Given the description of an element on the screen output the (x, y) to click on. 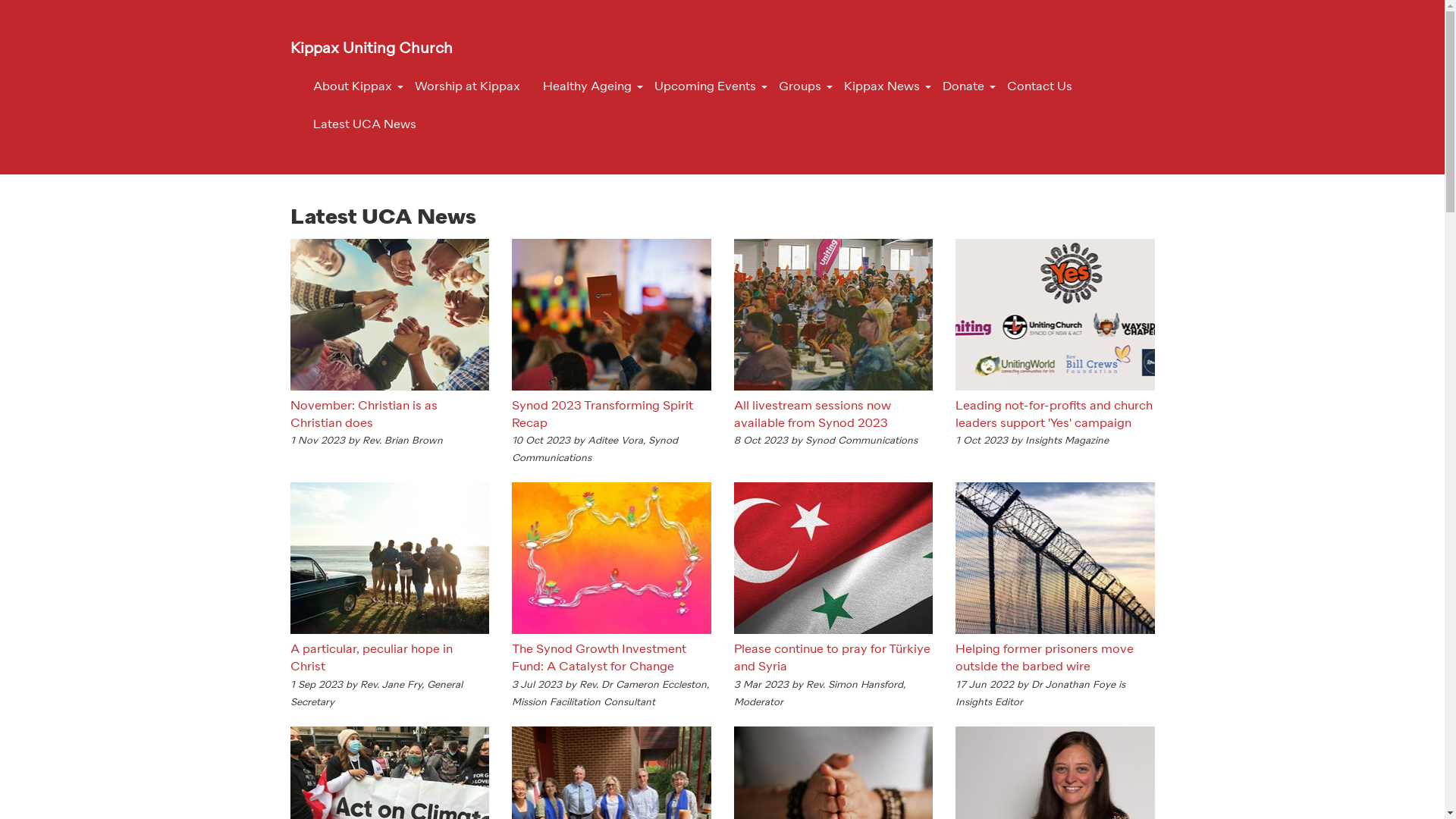
Upcoming Events Element type: text (705, 87)
The Synod Growth Investment Fund: A Catalyst for Change Element type: text (611, 658)
Synod 2023 Transforming Spirit Recap Element type: text (611, 415)
Helping former prisoners move outside the barbed wire Element type: text (1054, 658)
Kippax Uniting Church Element type: text (371, 49)
Latest UCA News Element type: text (364, 125)
About Kippax Element type: text (352, 87)
Healthy Ageing Element type: text (586, 87)
Worship at Kippax Element type: text (467, 87)
Donate Element type: text (963, 87)
A particular, peculiar hope in Christ Element type: text (389, 658)
Kippax News Element type: text (881, 87)
November: Christian is as Christian does Element type: text (389, 415)
Contact Us Element type: text (1038, 87)
Groups Element type: text (799, 87)
All livestream sessions now available from Synod 2023 Element type: text (833, 415)
